Given the description of an element on the screen output the (x, y) to click on. 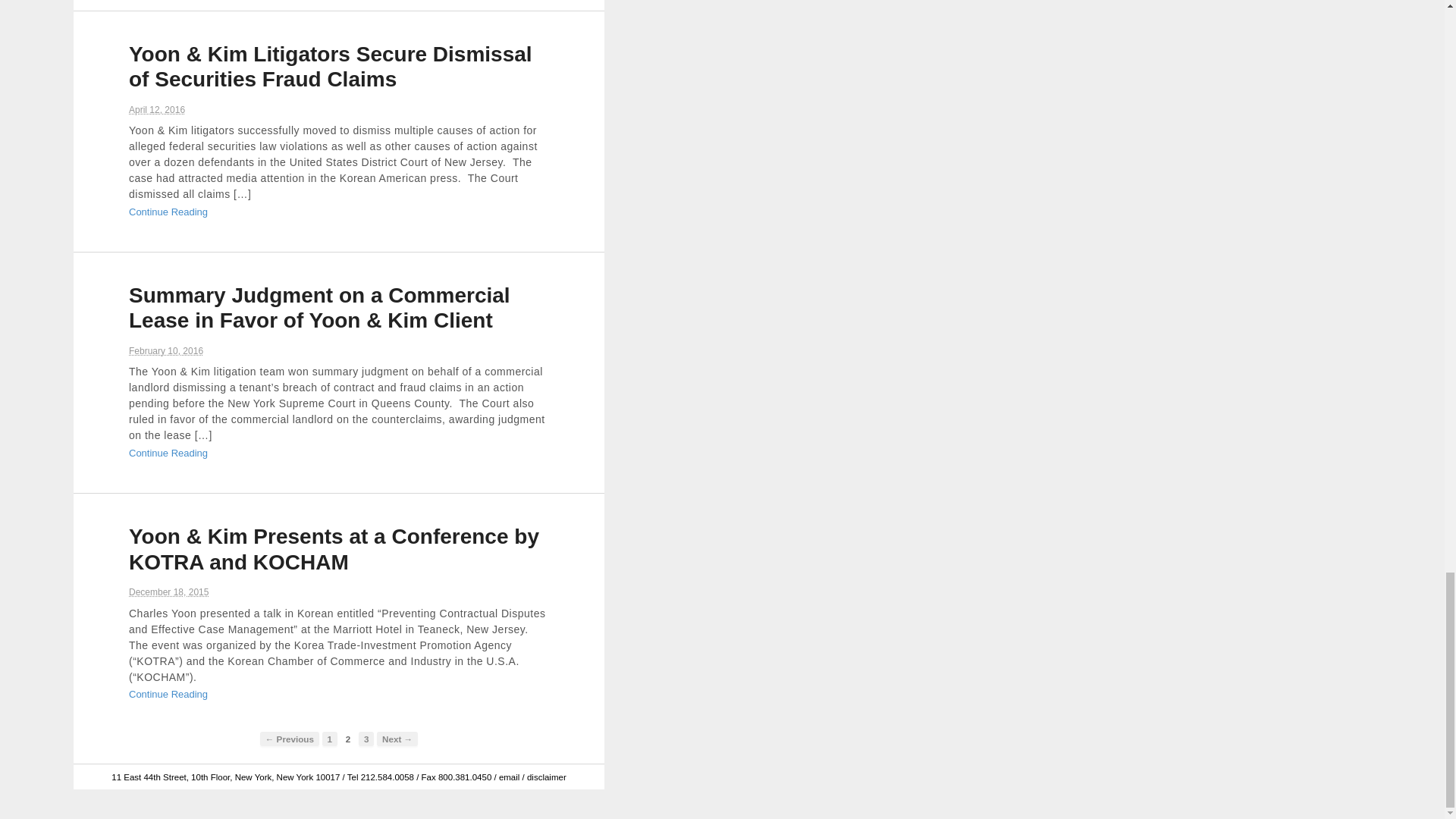
3 (366, 739)
Continue Reading (168, 694)
disclaimer (546, 777)
1 (329, 739)
Continue Reading (168, 452)
Continue Reading (168, 211)
email (509, 777)
